Given the description of an element on the screen output the (x, y) to click on. 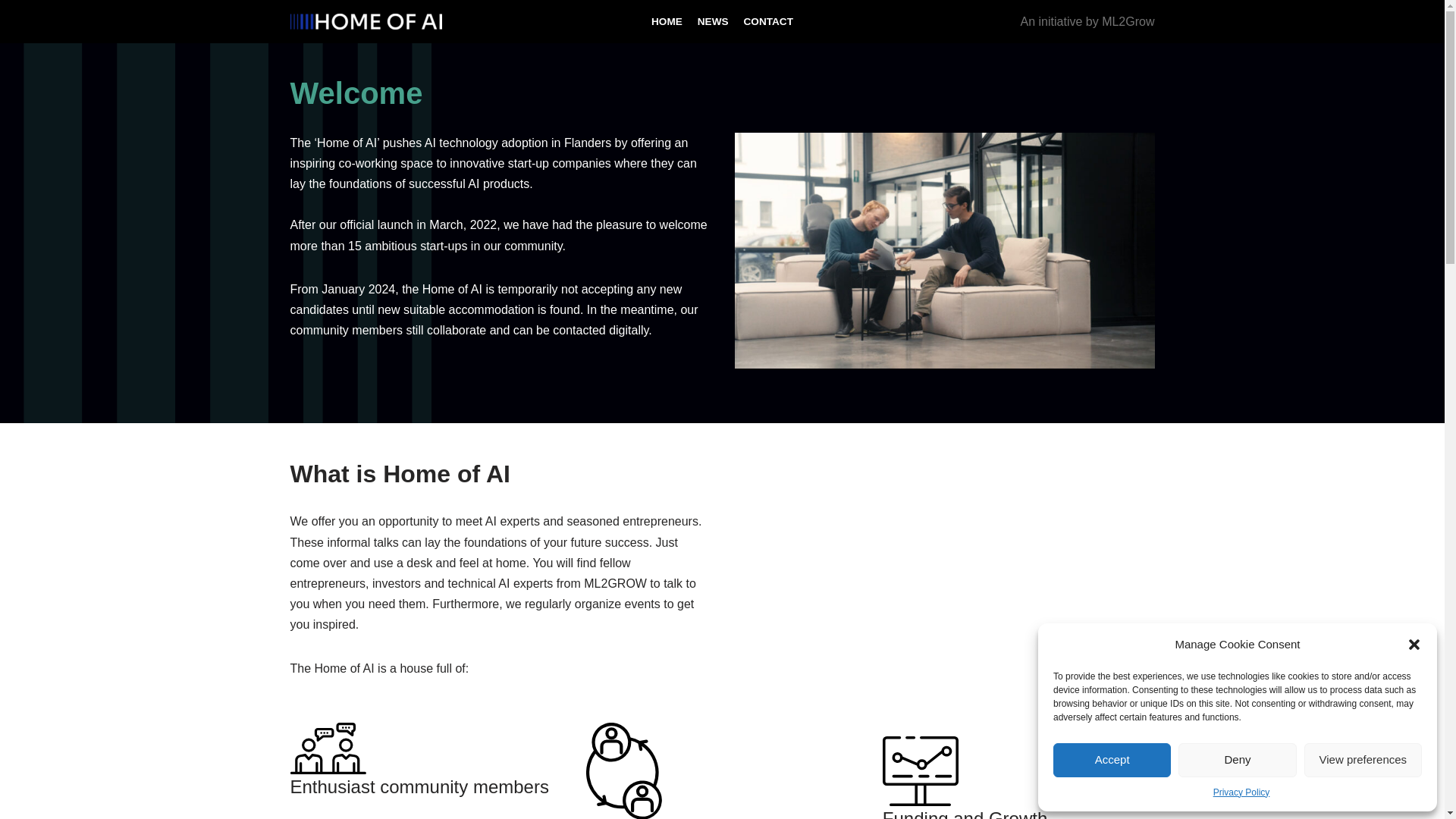
ML2Grow (1128, 21)
Privacy Policy (1240, 792)
NEWS (713, 21)
HOME (666, 21)
View preferences (1363, 759)
Home of AI (365, 21)
Skip to content (11, 31)
Accept (1111, 759)
CONTACT (768, 21)
Deny (1236, 759)
